Given the description of an element on the screen output the (x, y) to click on. 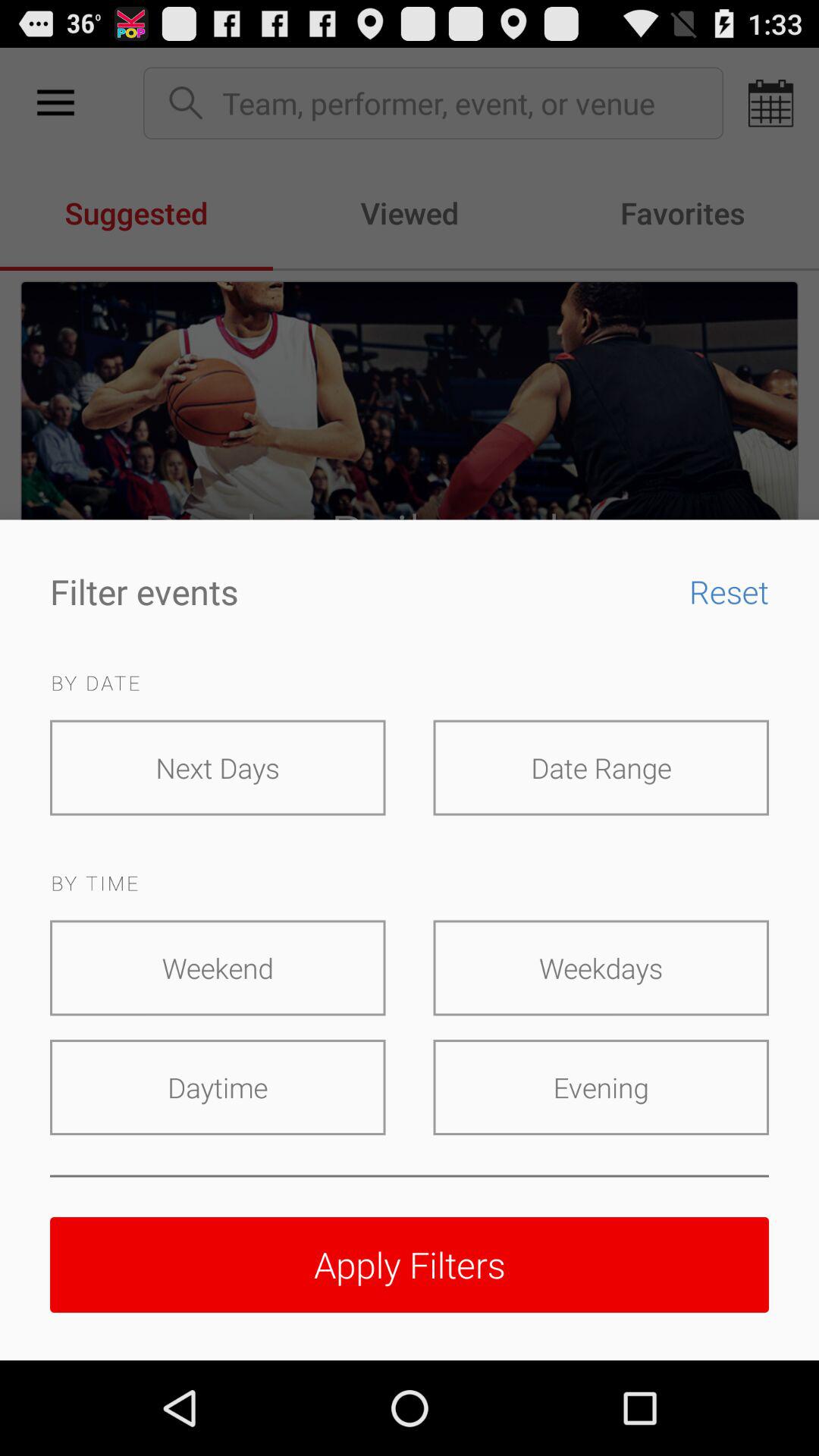
launch item below by time icon (217, 967)
